Given the description of an element on the screen output the (x, y) to click on. 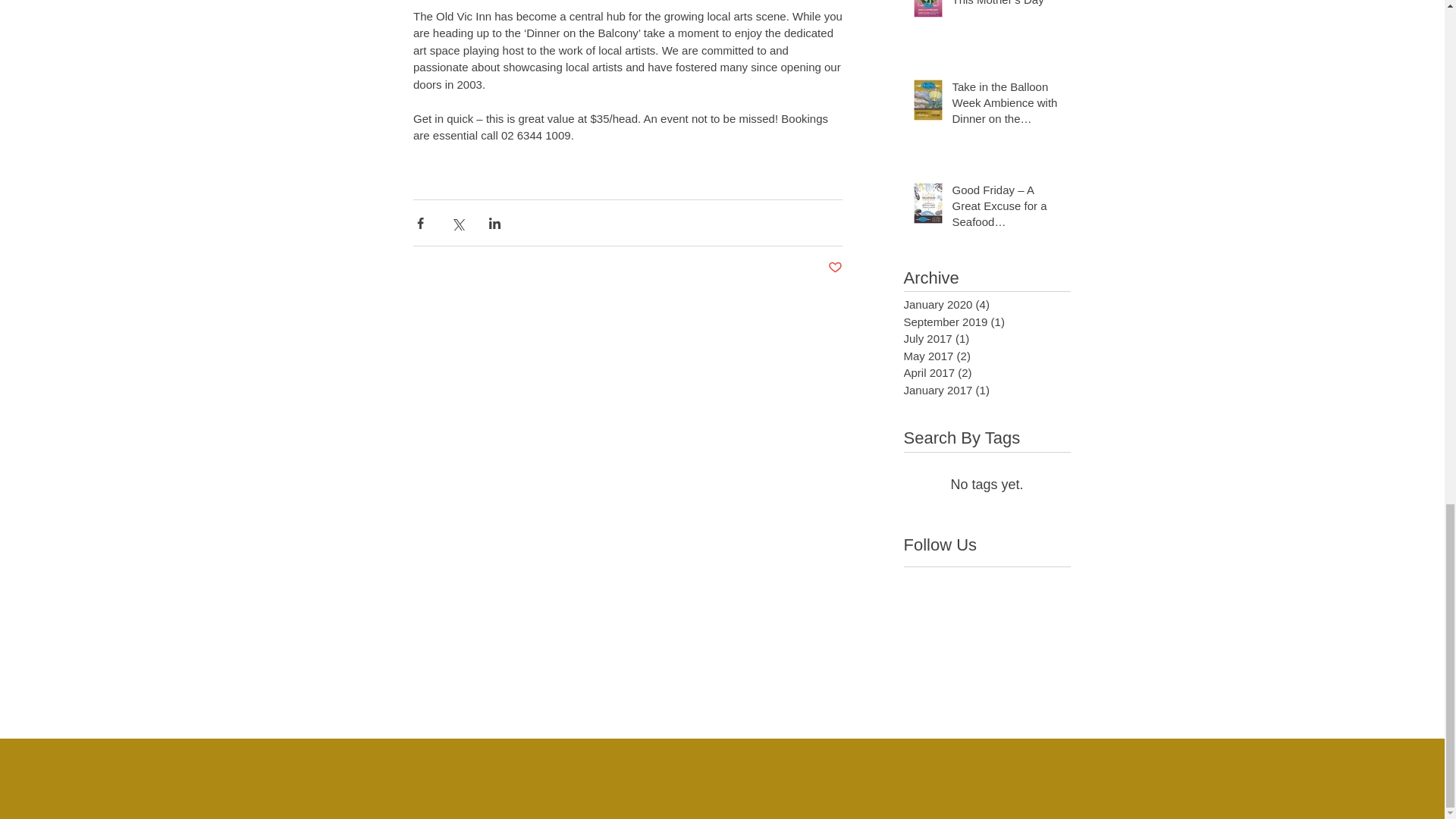
Post not marked as liked (835, 268)
Take in the Balloon Week Ambience with Dinner on the Balcony (1006, 105)
